Given the description of an element on the screen output the (x, y) to click on. 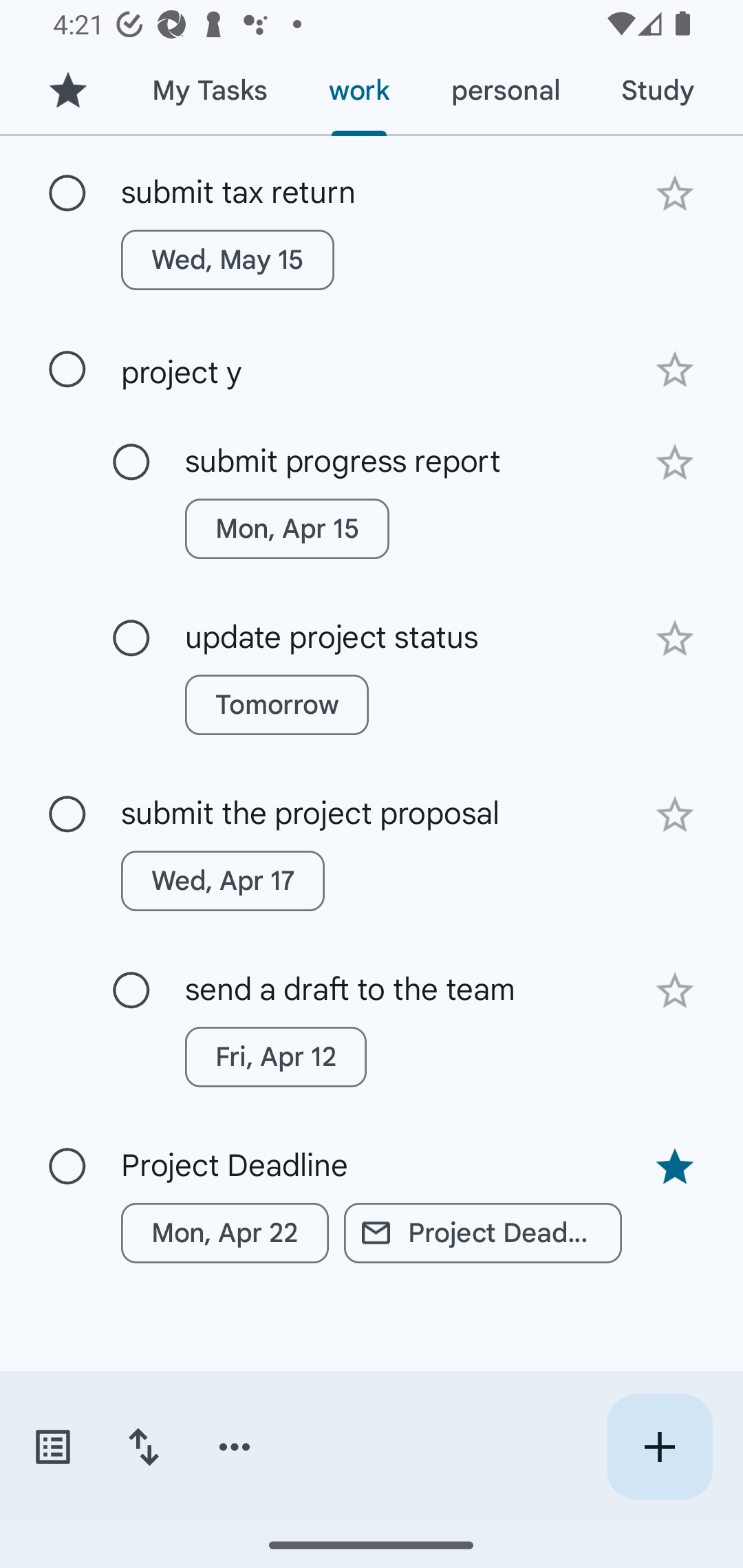
Starred (67, 90)
My Tasks (209, 90)
personal (504, 90)
Study (656, 90)
Add star (674, 193)
Mark as complete (67, 193)
Wed, May 15 (227, 259)
Add star (674, 369)
Mark as complete (67, 369)
Add star (674, 462)
Mark as complete (131, 463)
Mon, Apr 15 (287, 527)
Add star (674, 638)
Mark as complete (131, 638)
Tomorrow (276, 705)
Add star (674, 814)
Mark as complete (67, 814)
Wed, Apr 17 (222, 880)
Add star (674, 990)
Mark as complete (131, 990)
Fri, Apr 12 (276, 1056)
Remove star (674, 1166)
Mark as complete (67, 1167)
Mon, Apr 22 (225, 1231)
Project Deadline Related link (482, 1231)
Switch task lists (52, 1447)
Create new task (659, 1446)
Change sort order (143, 1446)
More options (234, 1446)
